Given the description of an element on the screen output the (x, y) to click on. 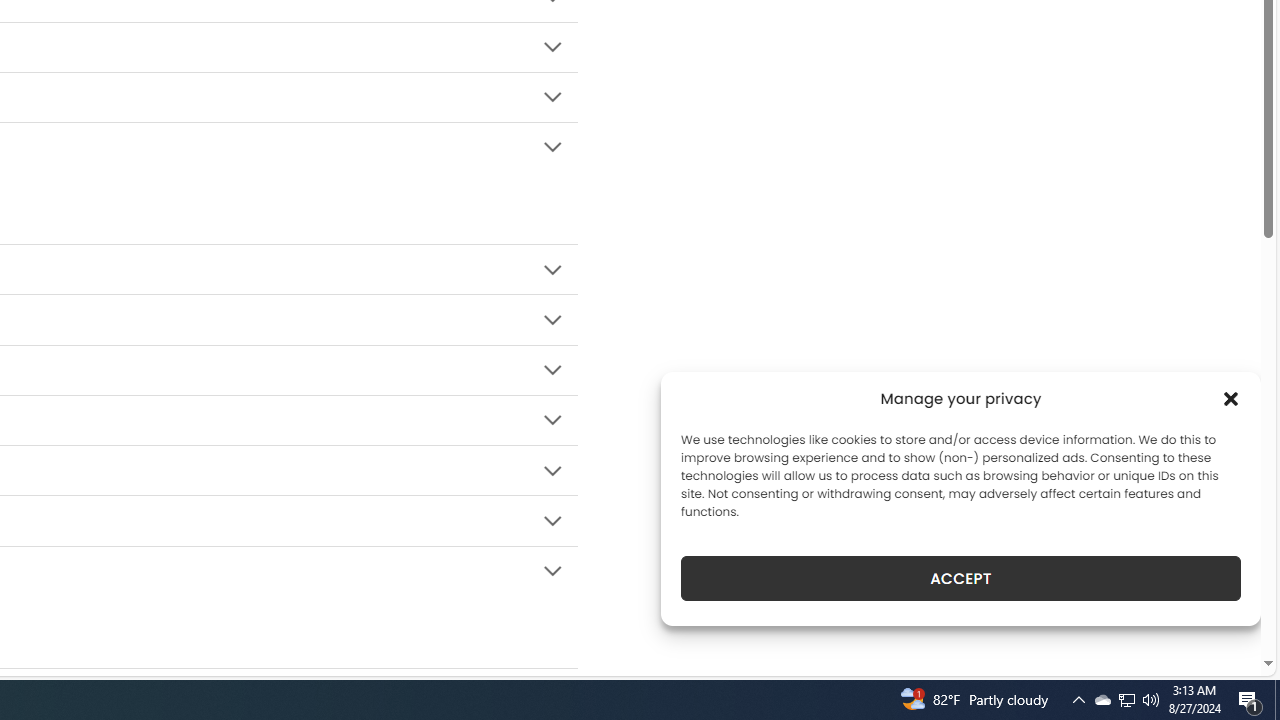
ACCEPT (960, 578)
Class: cmplz-close (1231, 398)
